Given the description of an element on the screen output the (x, y) to click on. 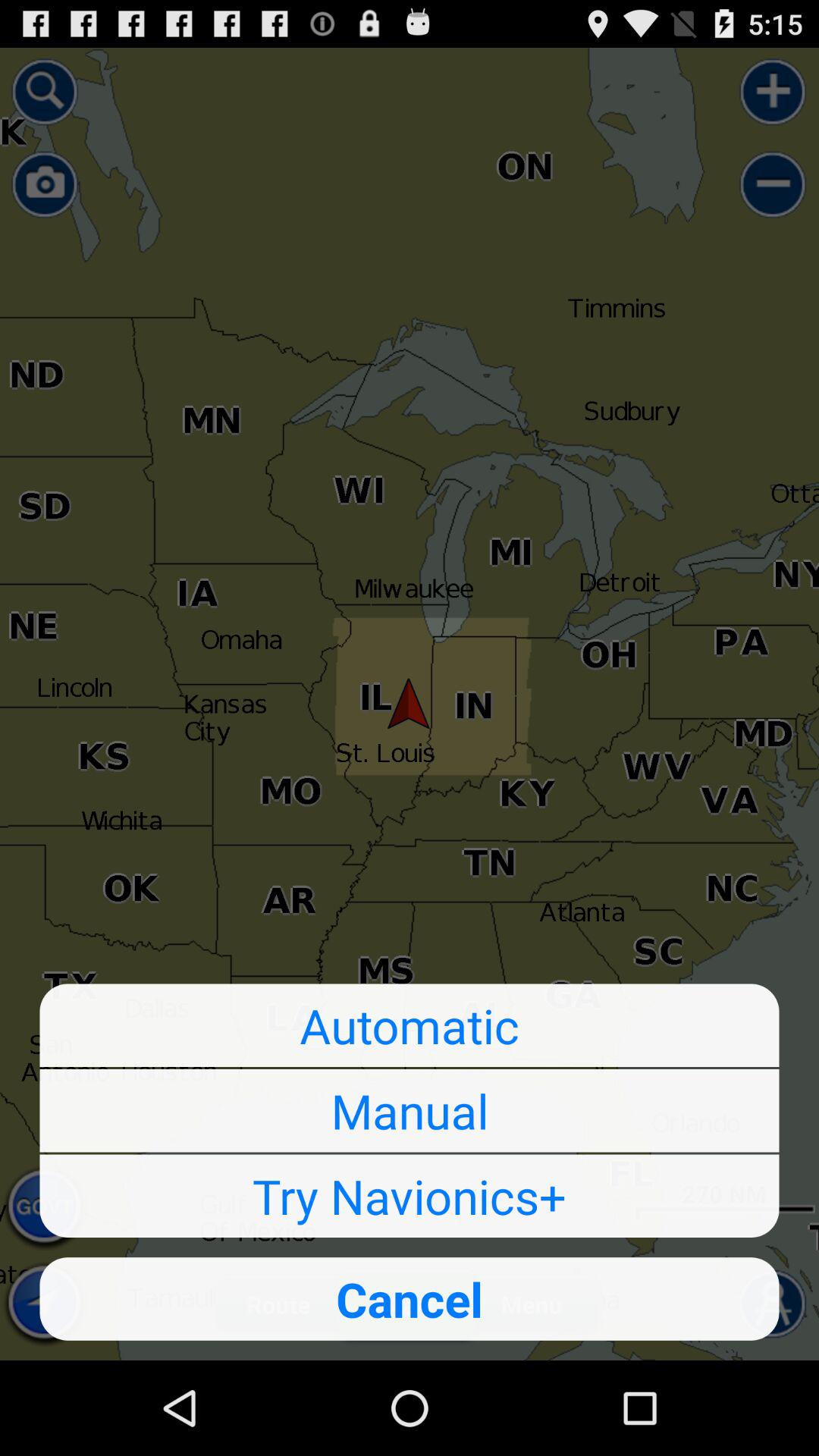
click the icon below try navionics+ icon (409, 1298)
